Given the description of an element on the screen output the (x, y) to click on. 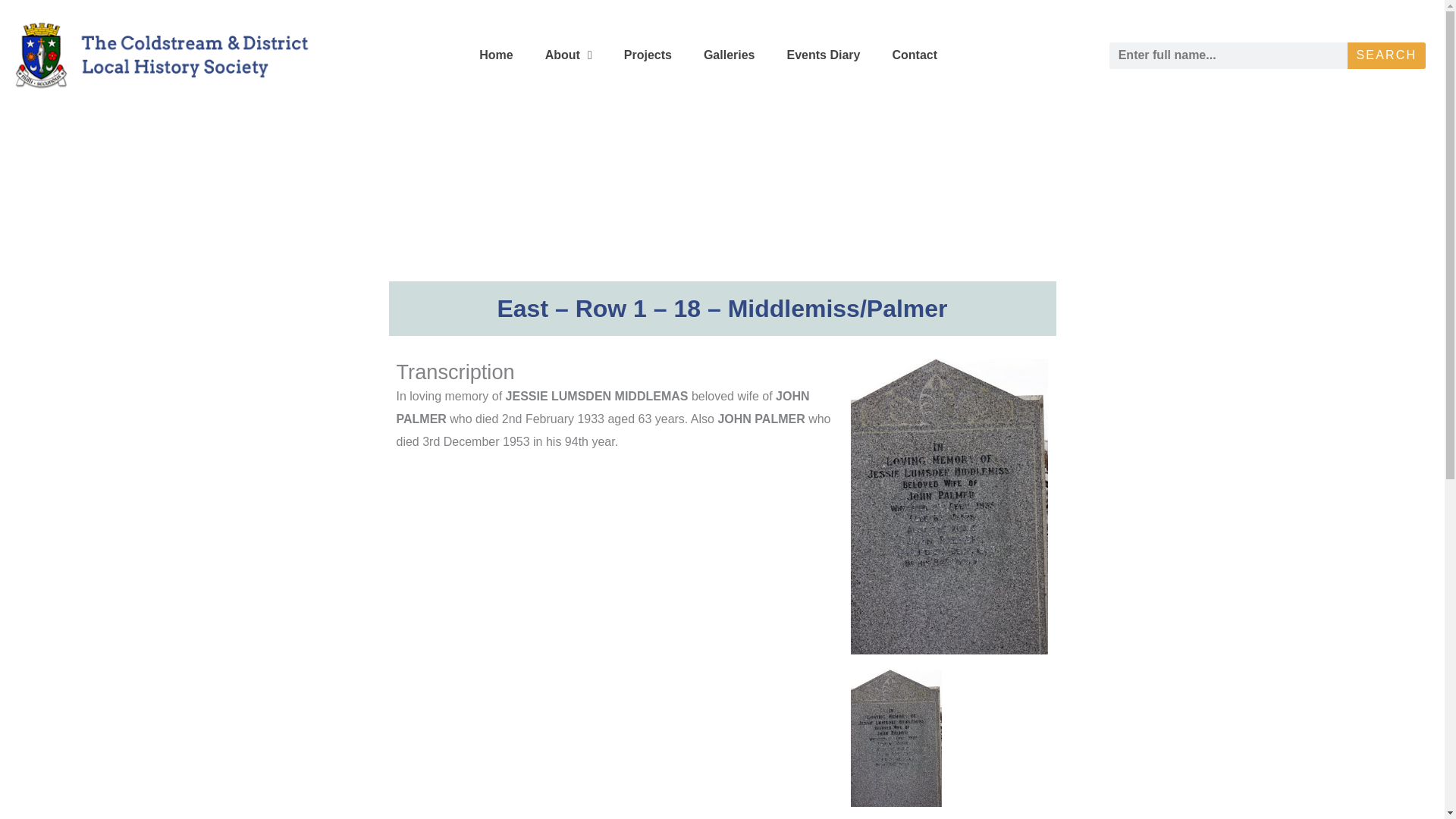
SEARCH (1386, 55)
Contact (914, 54)
Galleries (729, 54)
Home (495, 54)
About (568, 54)
Events Diary (823, 54)
Projects (647, 54)
